Given the description of an element on the screen output the (x, y) to click on. 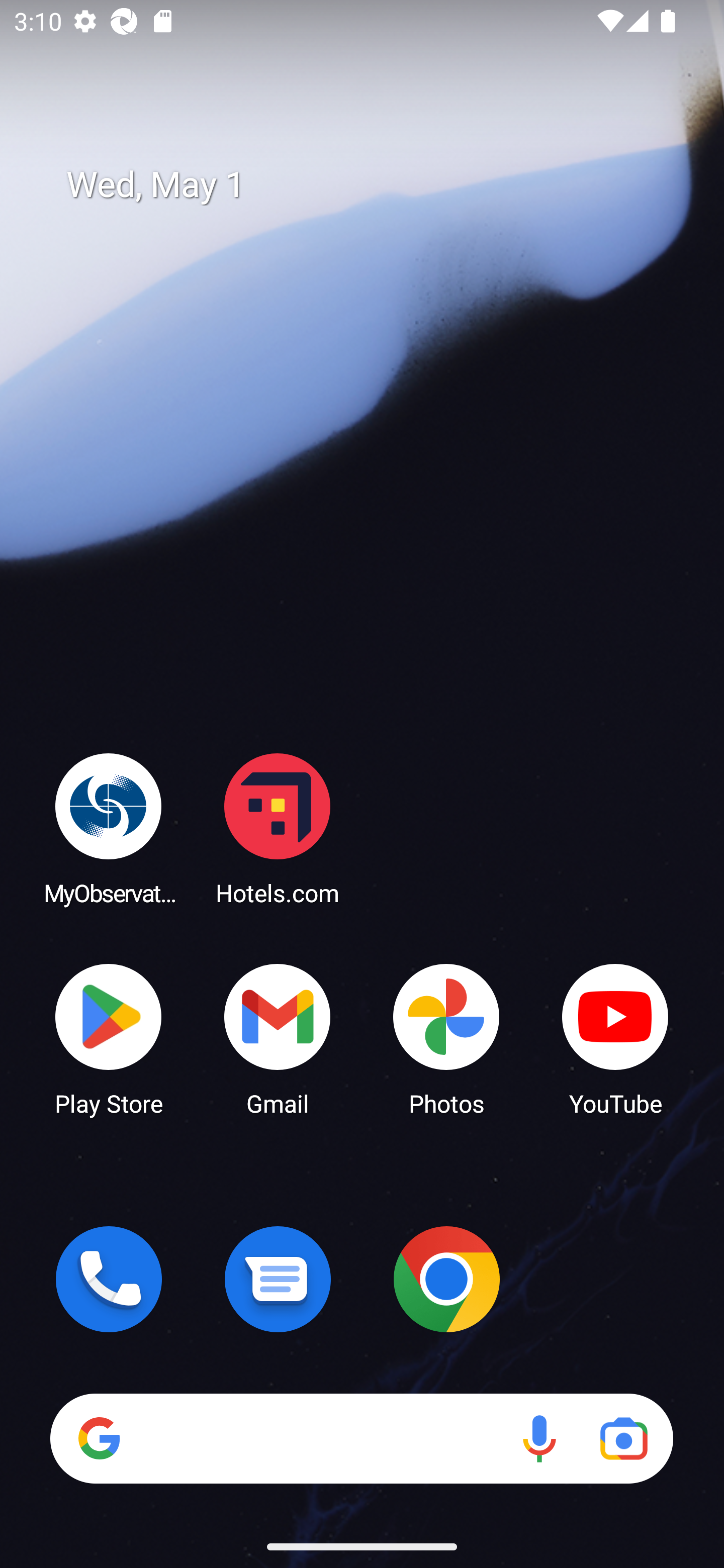
Wed, May 1 (375, 184)
MyObservatory (108, 828)
Hotels.com (277, 828)
Play Store (108, 1038)
Gmail (277, 1038)
Photos (445, 1038)
YouTube (615, 1038)
Phone (108, 1279)
Messages (277, 1279)
Chrome (446, 1279)
Search Voice search Google Lens (361, 1438)
Voice search (539, 1438)
Google Lens (623, 1438)
